Given the description of an element on the screen output the (x, y) to click on. 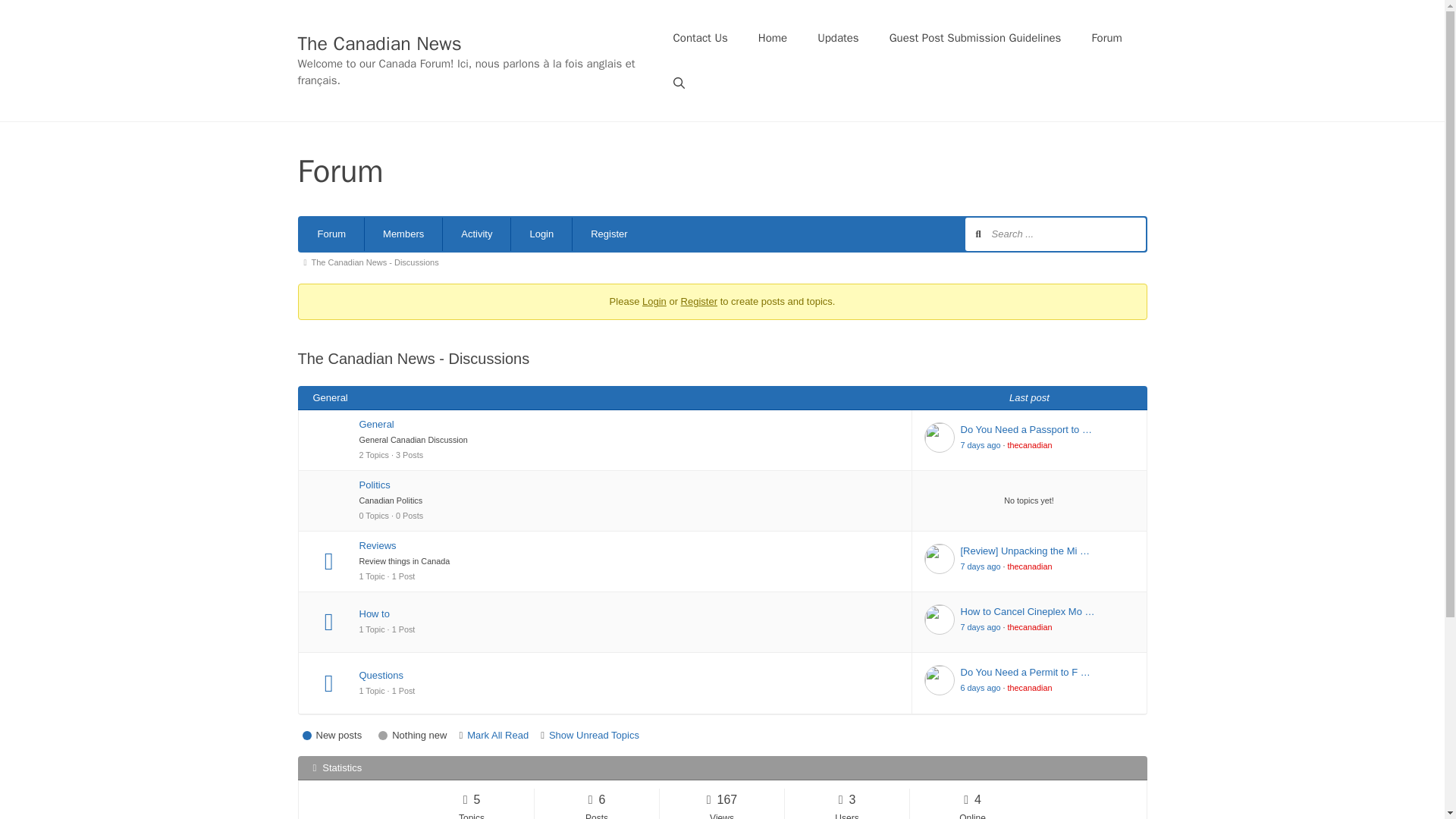
Guest Post Submission Guidelines (976, 37)
thecanadian (1029, 565)
Register (699, 301)
Activity (476, 233)
thecanadian (1029, 444)
The Canadian News (379, 43)
How to (629, 613)
Home (772, 37)
7 days ago (979, 444)
Register (608, 233)
General (629, 424)
Login (654, 301)
Updates (838, 37)
Login (541, 233)
Politics (629, 485)
